Given the description of an element on the screen output the (x, y) to click on. 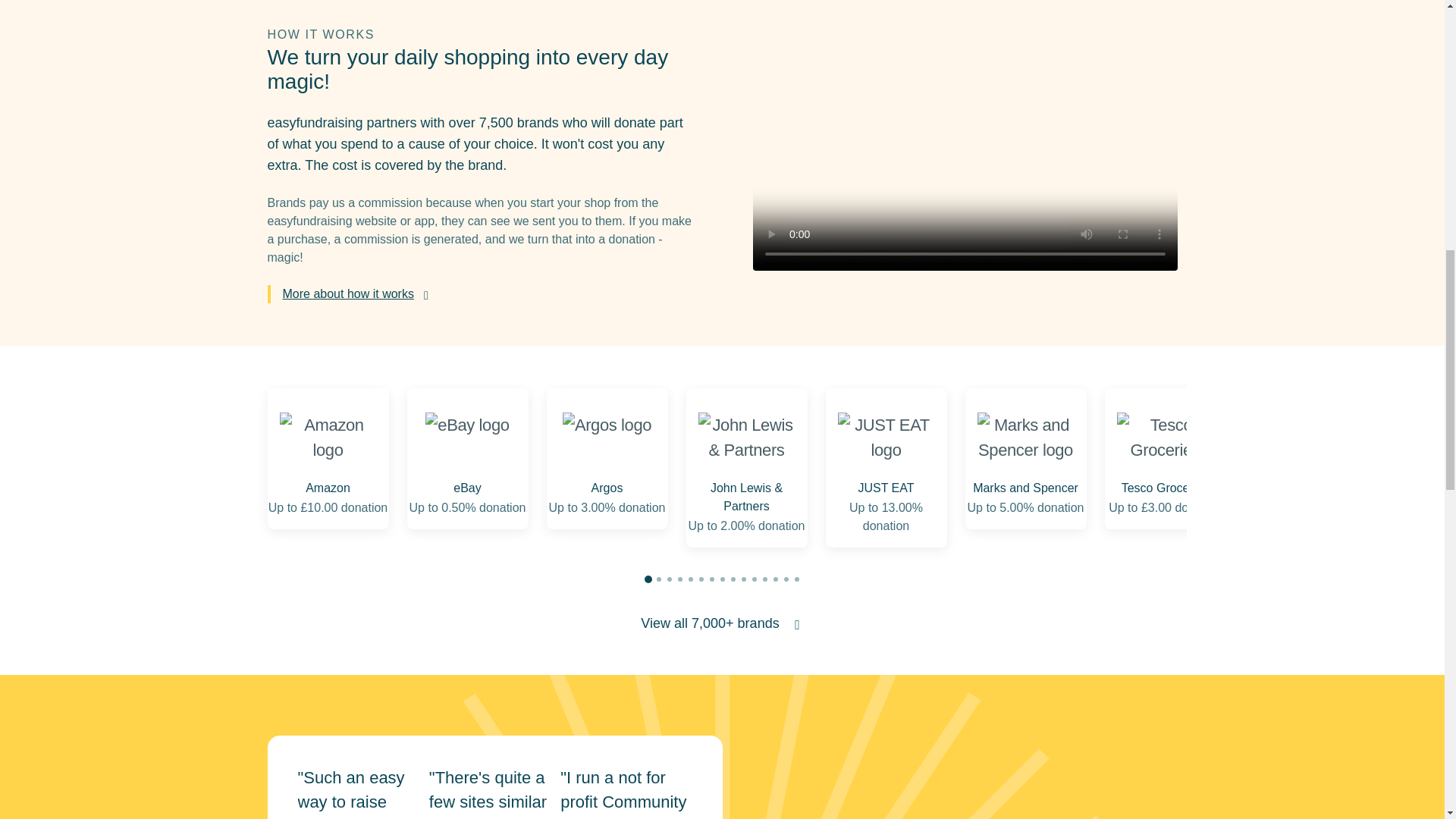
More about how it works (356, 293)
Tesco Groceries (1164, 436)
Marks and Spencer (1025, 436)
eBay (466, 436)
JUST EAT (885, 436)
Argos (606, 436)
Amazon (327, 436)
